Given the description of an element on the screen output the (x, y) to click on. 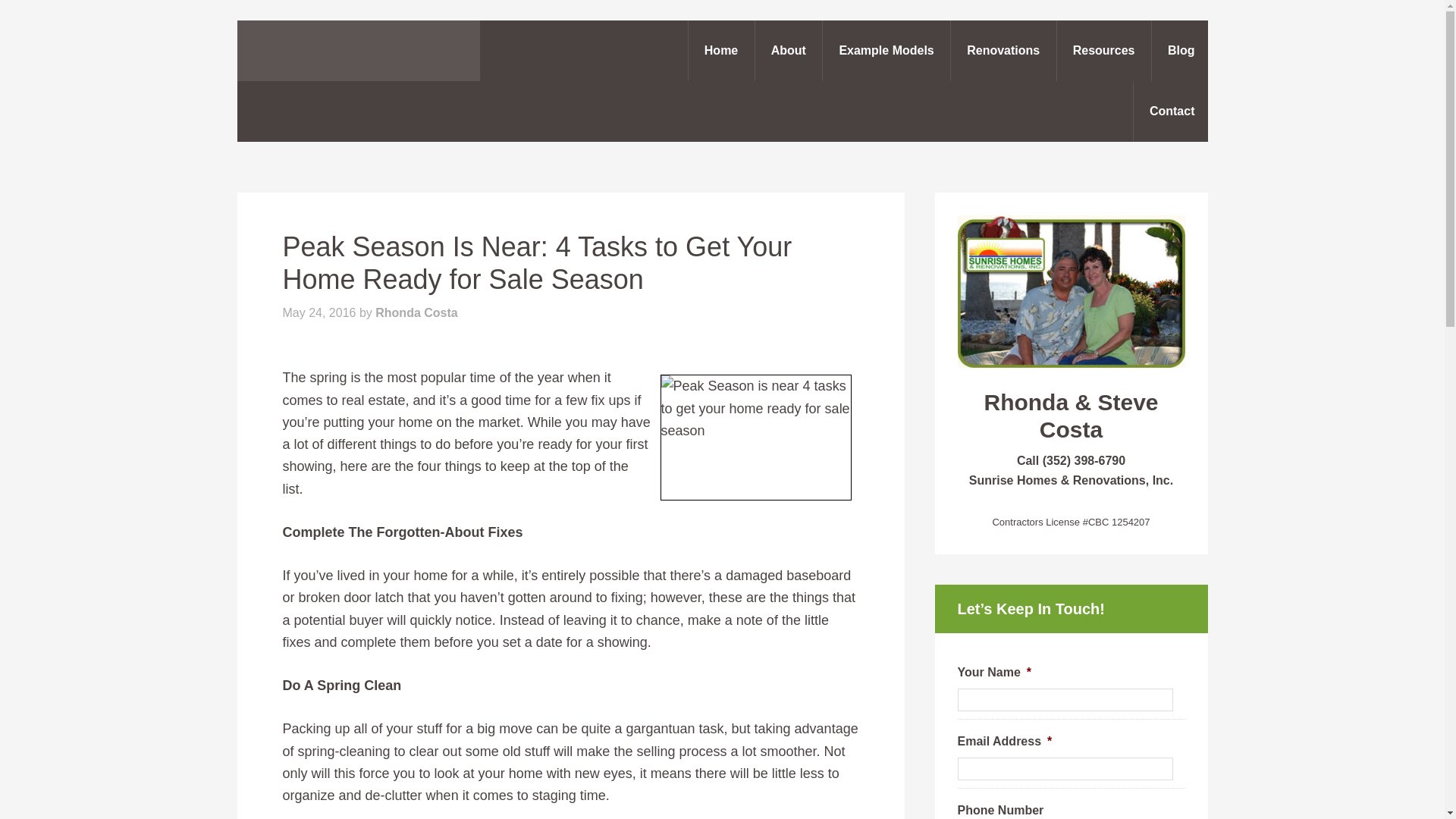
Example Models (885, 50)
About (788, 50)
Contact (1171, 111)
Blog (1181, 50)
Resources (1104, 50)
Renovations (1002, 50)
Rhonda Costa (416, 312)
Home (720, 50)
